Given the description of an element on the screen output the (x, y) to click on. 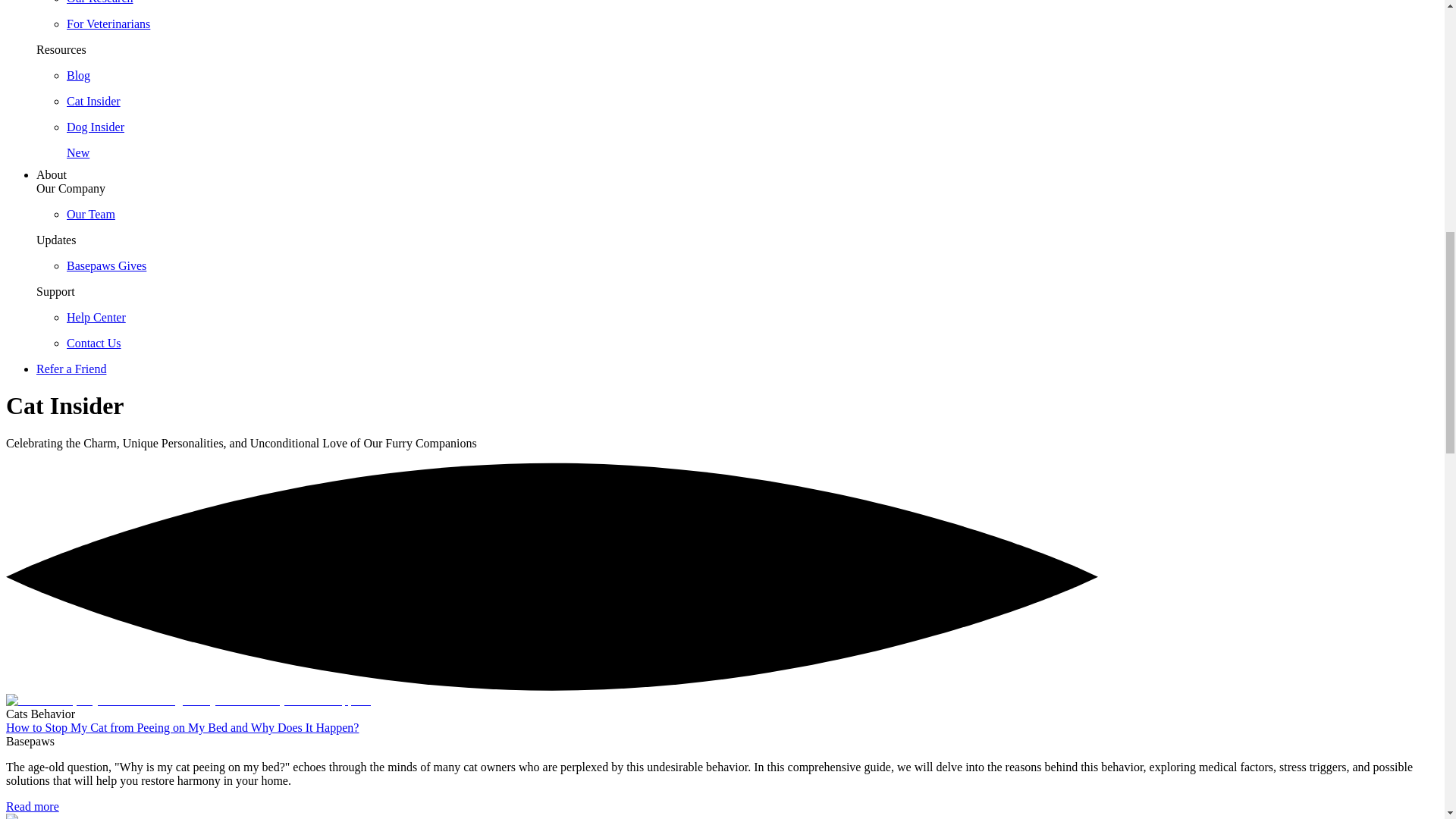
Read more (32, 806)
